Given the description of an element on the screen output the (x, y) to click on. 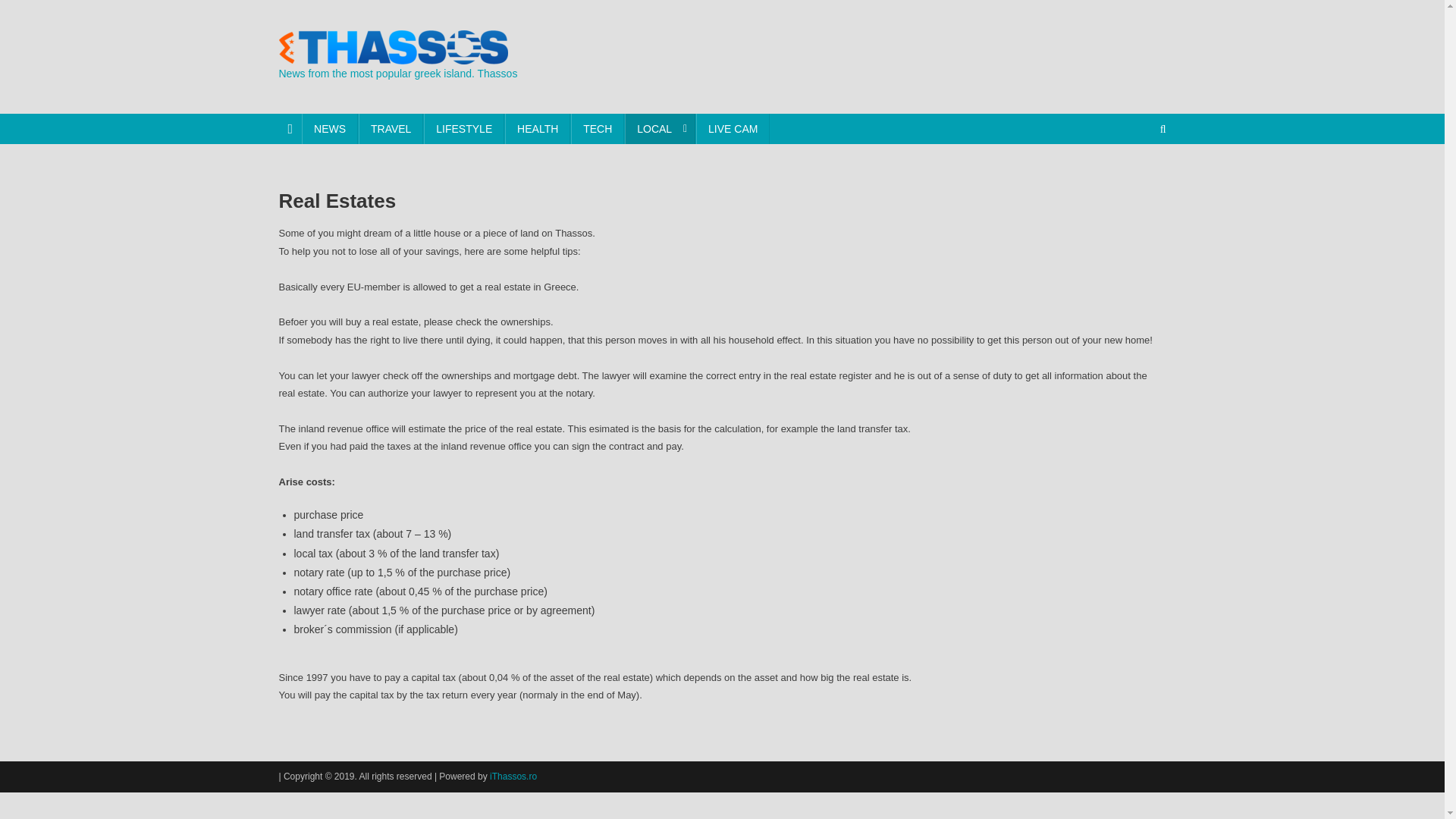
LOCAL (659, 128)
LIFESTYLE (463, 128)
HEALTH (537, 128)
LIVE CAM (732, 128)
iThassos.ro (513, 776)
TECH (597, 128)
NEWS (329, 128)
LIFESTYLE (463, 128)
Search (1133, 179)
TRAVEL (390, 128)
